Given the description of an element on the screen output the (x, y) to click on. 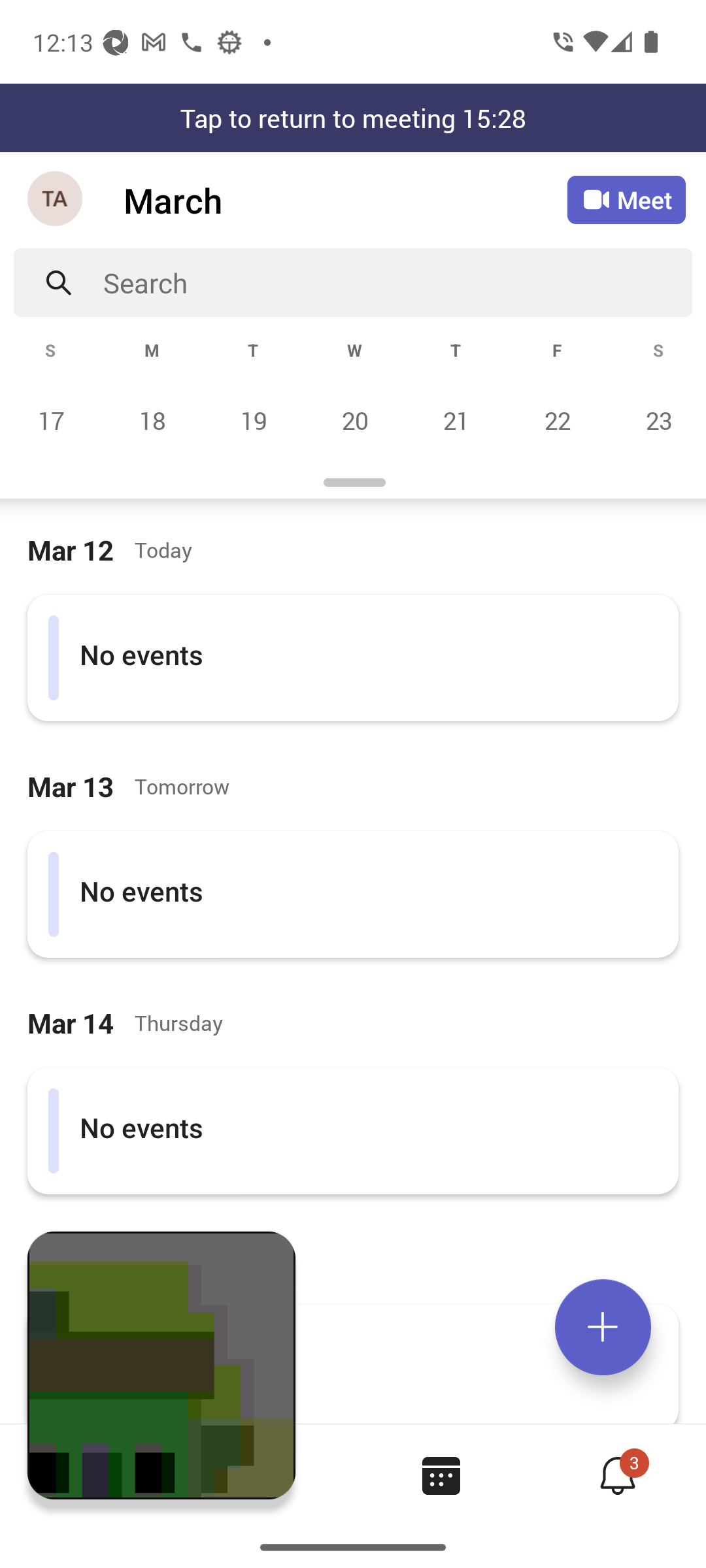
Tap to return to meeting 15:28 (353, 117)
Navigation (56, 199)
Meet Meet now or join with an ID (626, 199)
March March Calendar Agenda View (345, 199)
Search (397, 281)
Sunday, March 17 17 (50, 420)
Monday, March 18 18 (151, 420)
Tuesday, March 19 19 (253, 420)
Wednesday, March 20 20 (354, 420)
Thursday, March 21 21 (455, 420)
Friday, March 22 22 (556, 420)
Saturday, March 23 23 (656, 420)
Expand meetings menu (602, 1327)
Calendar tab, 3 of 4 (441, 1475)
Activity tab,4 of 4, not selected, 3 new 3 (617, 1475)
